Given the description of an element on the screen output the (x, y) to click on. 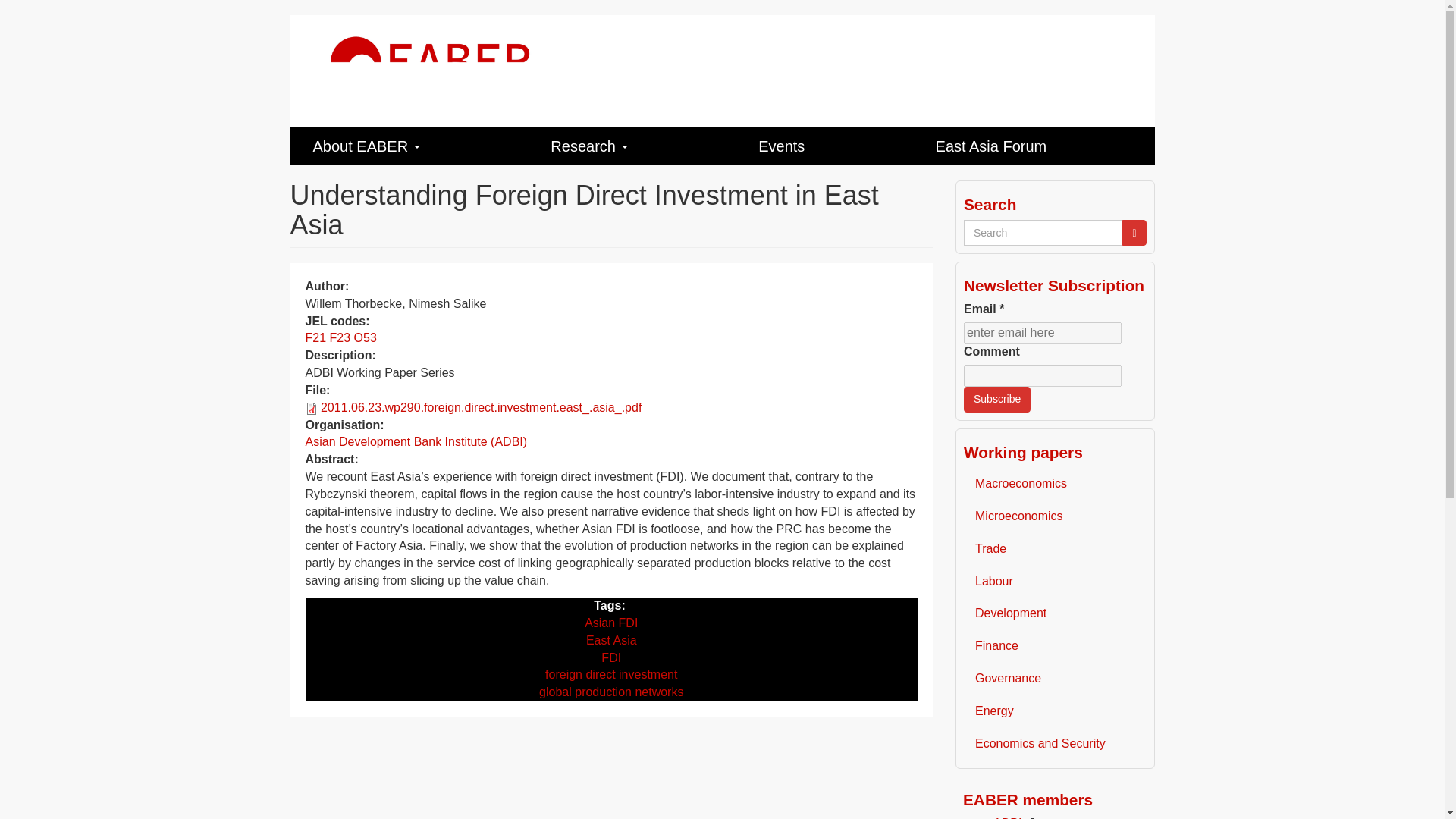
Events (823, 146)
Macroeconomics (1055, 483)
F23 (340, 337)
Finance (1055, 645)
foreign direct investment (610, 674)
Labour (1055, 581)
FDI (611, 657)
Research (630, 146)
Subscribe (996, 399)
